Given the description of an element on the screen output the (x, y) to click on. 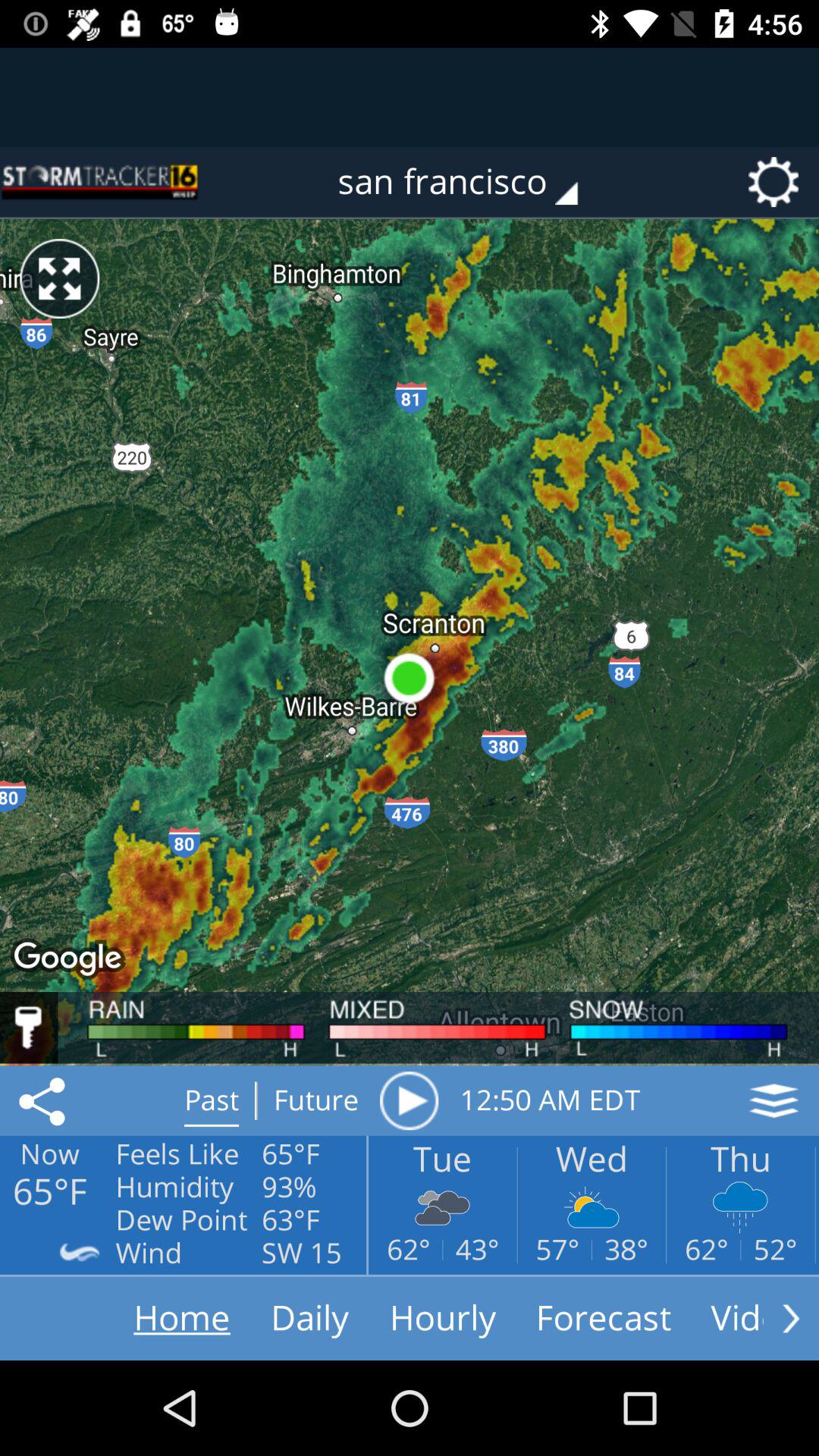
press the item to the right of 12 50 am icon (774, 1100)
